Given the description of an element on the screen output the (x, y) to click on. 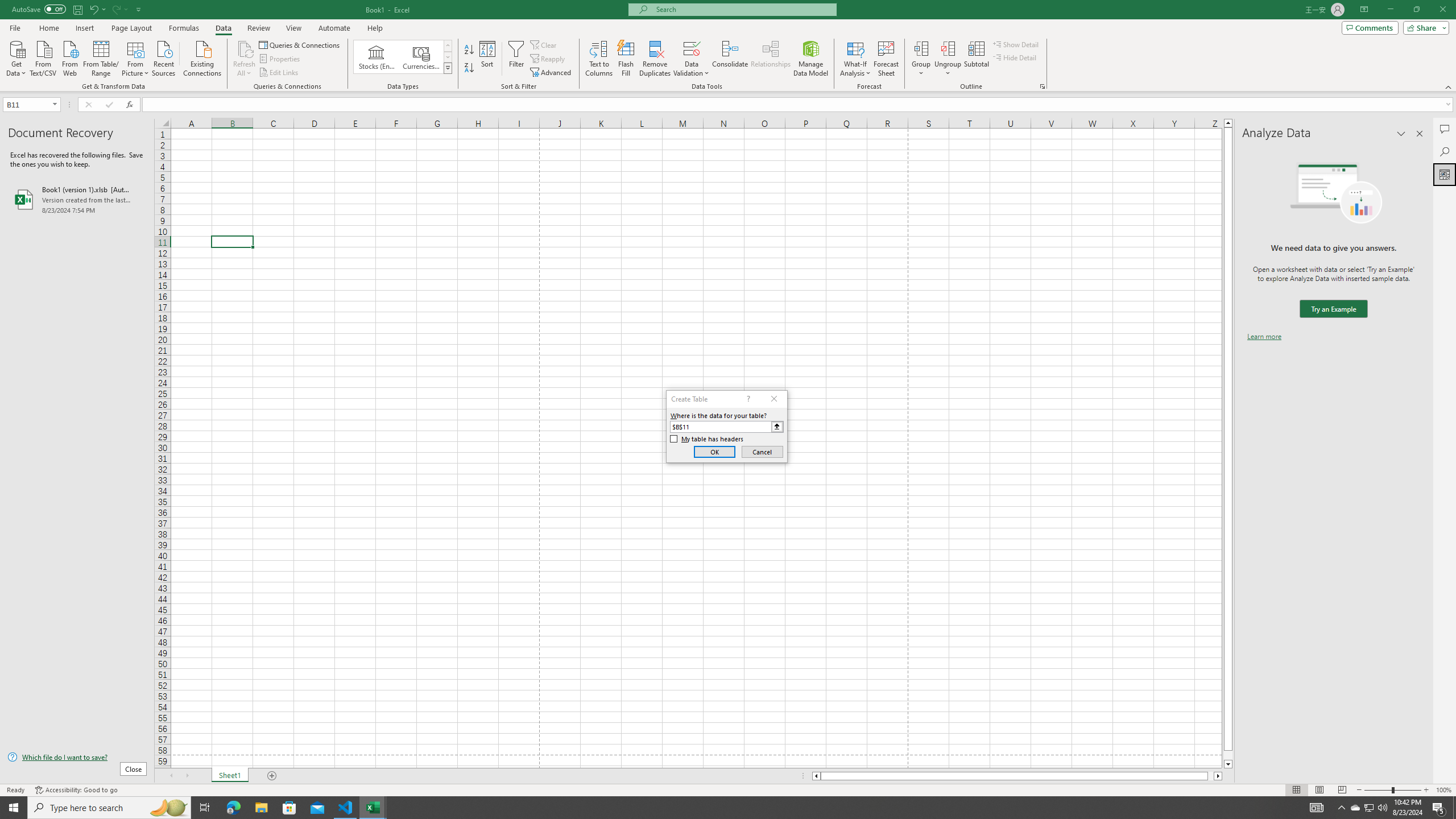
Undo (92, 9)
System (6, 6)
Column left (815, 775)
Show Detail (1016, 44)
From Web (69, 57)
Advanced... (551, 72)
Collapse the Ribbon (1448, 86)
Scroll Left (171, 775)
Home (48, 28)
Data Validation... (691, 58)
Existing Connections (202, 57)
Group... (921, 48)
Column right (1218, 775)
Group... (921, 58)
